Given the description of an element on the screen output the (x, y) to click on. 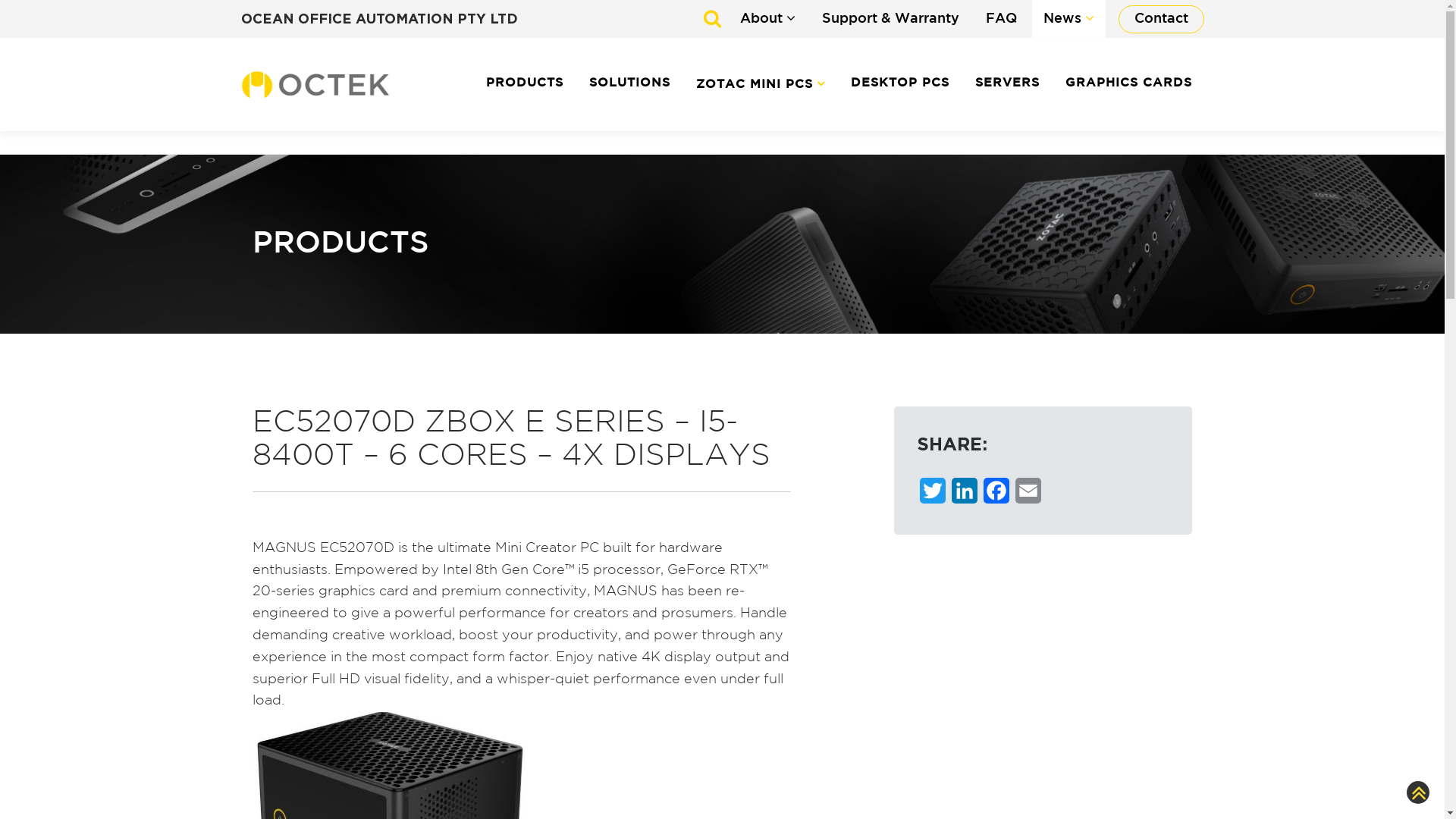
Back To Top Element type: hover (1416, 797)
LinkedIn Element type: text (964, 494)
Support & Warranty Element type: text (889, 18)
Facebook Element type: text (996, 494)
Search Element type: text (9, 9)
ZOTAC MINI PCS Element type: text (760, 84)
GRAPHICS CARDS Element type: text (1122, 83)
FAQ Element type: text (1000, 18)
SERVERS Element type: text (1007, 83)
DESKTOP PCS Element type: text (899, 83)
Twitter Element type: text (932, 494)
SOLUTIONS Element type: text (629, 83)
About Element type: text (767, 18)
News Element type: text (1067, 18)
Contact Element type: text (1160, 19)
Email Element type: text (1028, 494)
PRODUCTS Element type: text (524, 83)
